Given the description of an element on the screen output the (x, y) to click on. 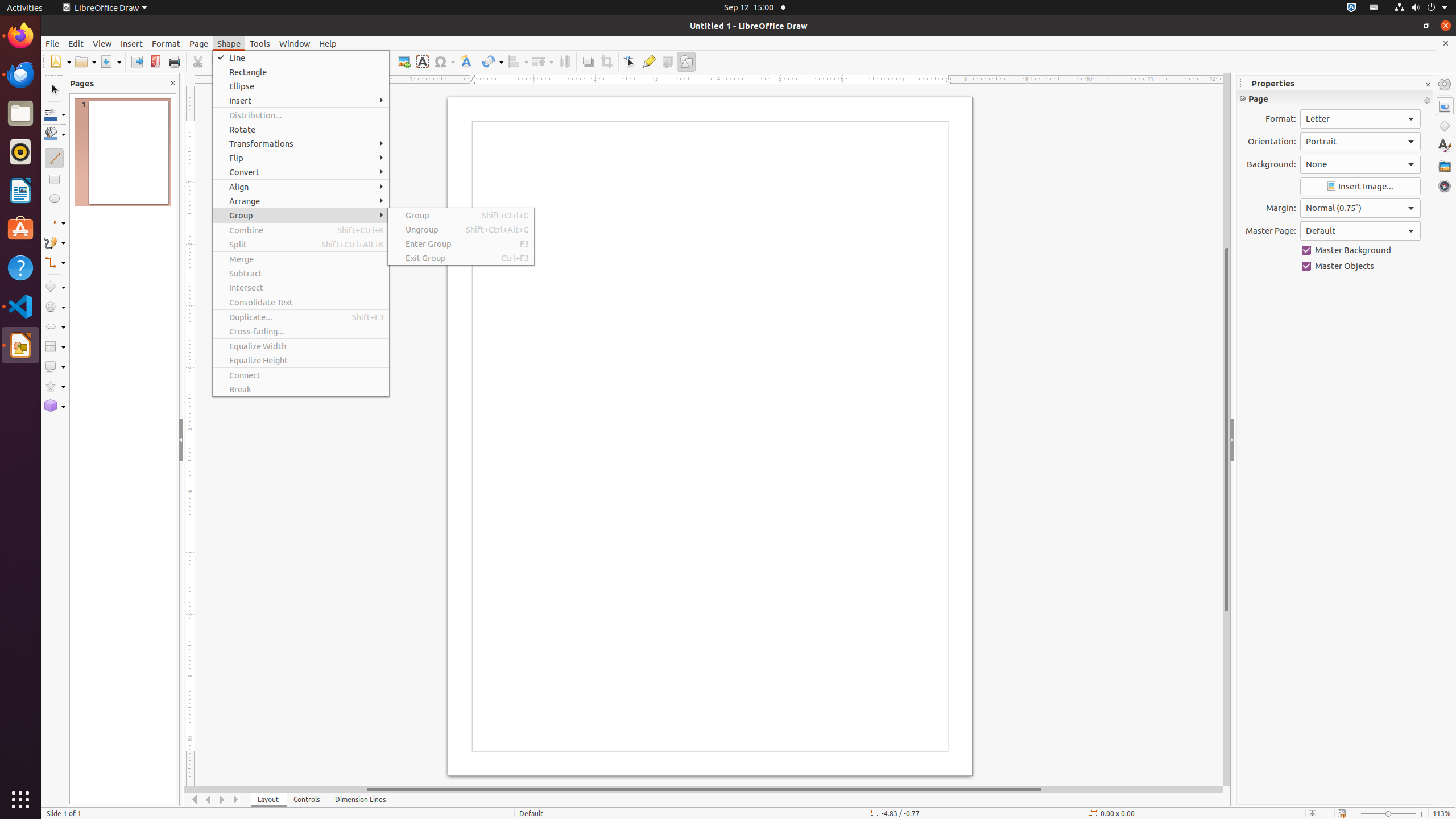
Connect Element type: menu-item (300, 374)
Dimension Lines Element type: page-tab (360, 799)
Redo Element type: push-button (315, 61)
Export Element type: push-button (136, 61)
Print Element type: push-button (173, 61)
